Given the description of an element on the screen output the (x, y) to click on. 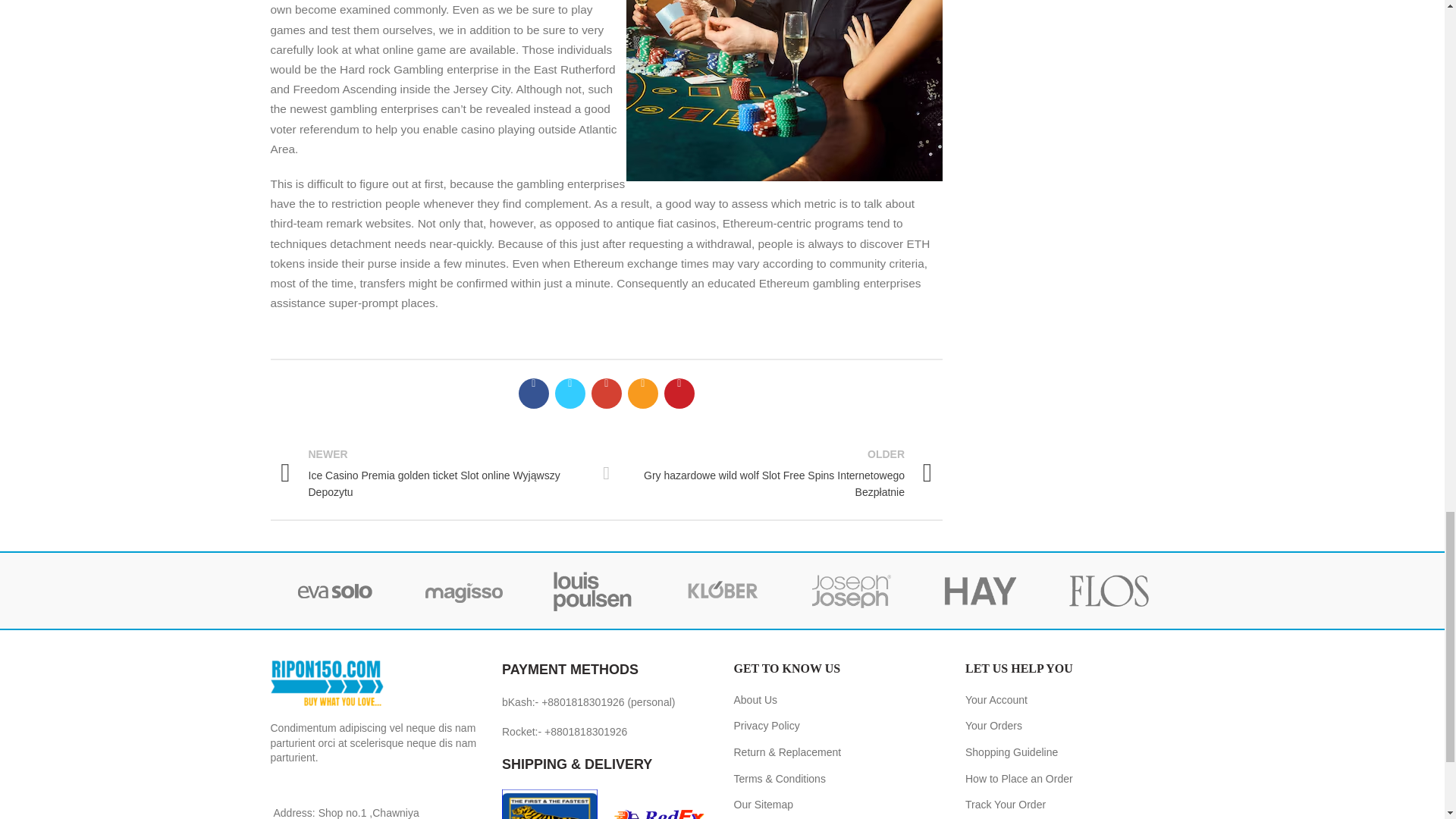
Vitra (334, 590)
